Given the description of an element on the screen output the (x, y) to click on. 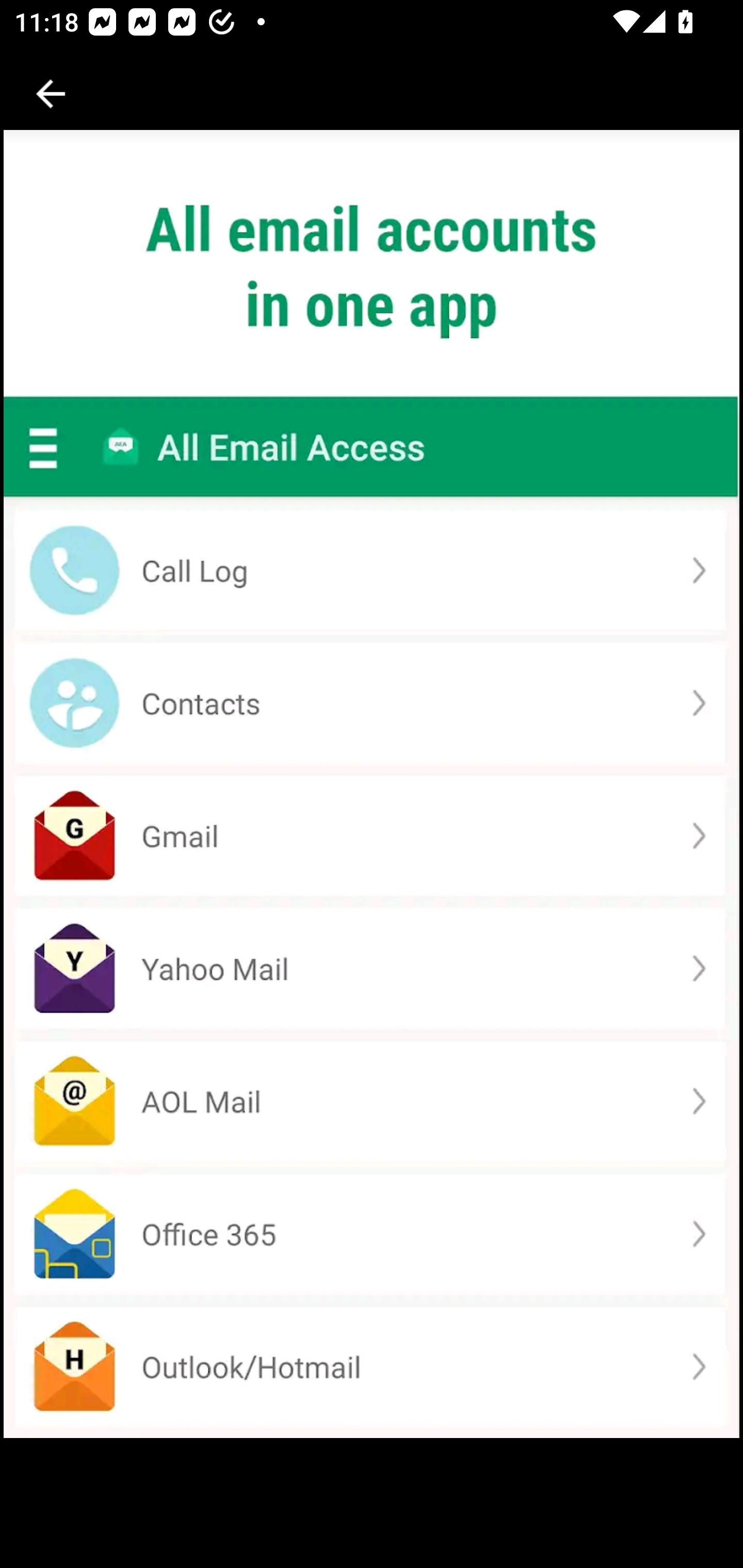
Back (50, 93)
